Given the description of an element on the screen output the (x, y) to click on. 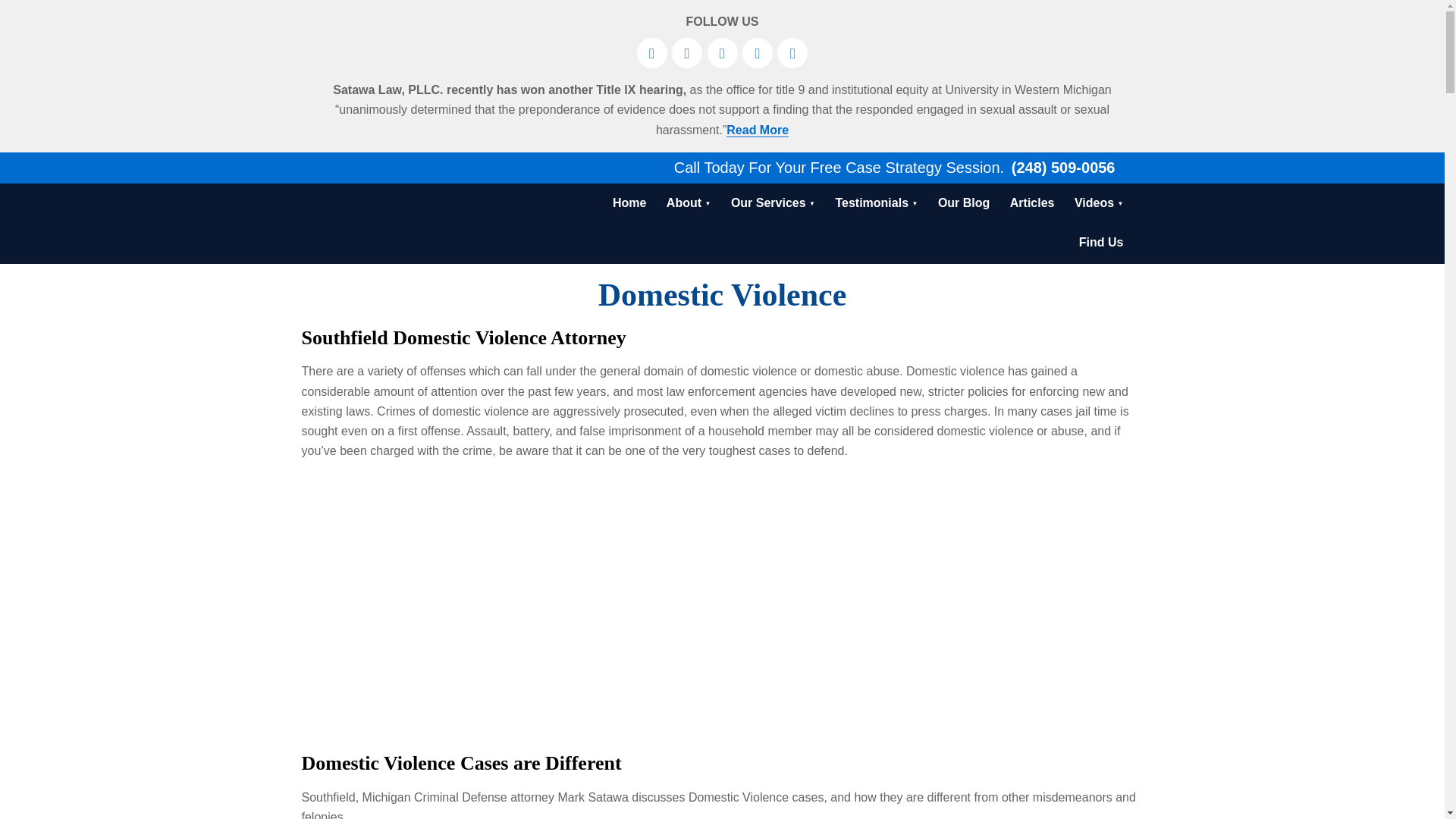
Our Blog (963, 202)
Our Services (773, 202)
Testimonials (876, 202)
Articles (1031, 202)
Read More (757, 130)
About (688, 202)
Videos (1098, 202)
Home (628, 202)
